Given the description of an element on the screen output the (x, y) to click on. 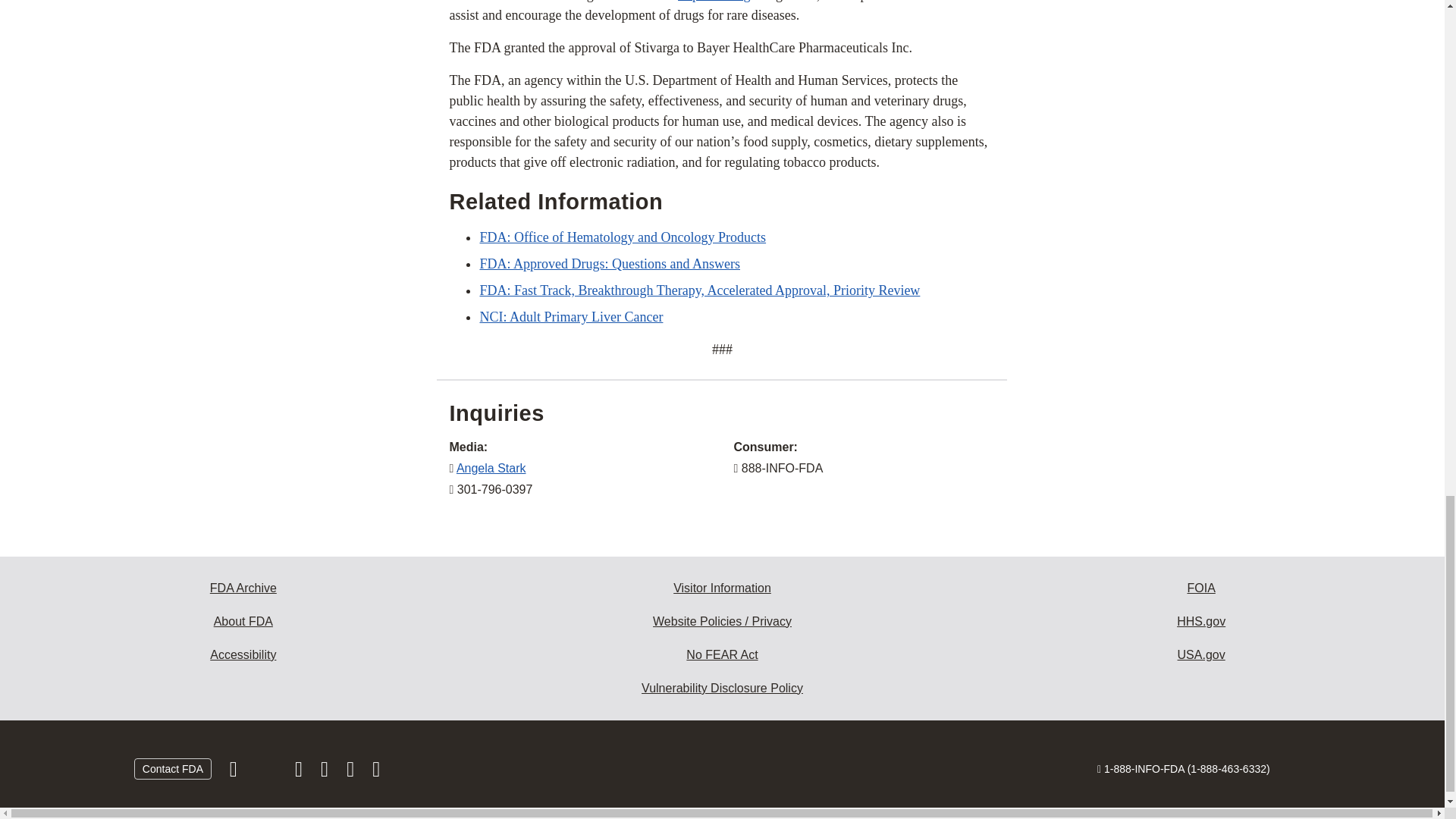
Follow FDA on Instagram (299, 772)
Follow FDA on LinkedIn (326, 772)
Follow FDA on Facebook (234, 772)
Health and Human Services (1200, 621)
Follow FDA on X (266, 772)
Freedom of Information Act (1200, 588)
View FDA videos on YouTube (352, 772)
Subscribe to FDA RSS feeds (376, 772)
